Given the description of an element on the screen output the (x, y) to click on. 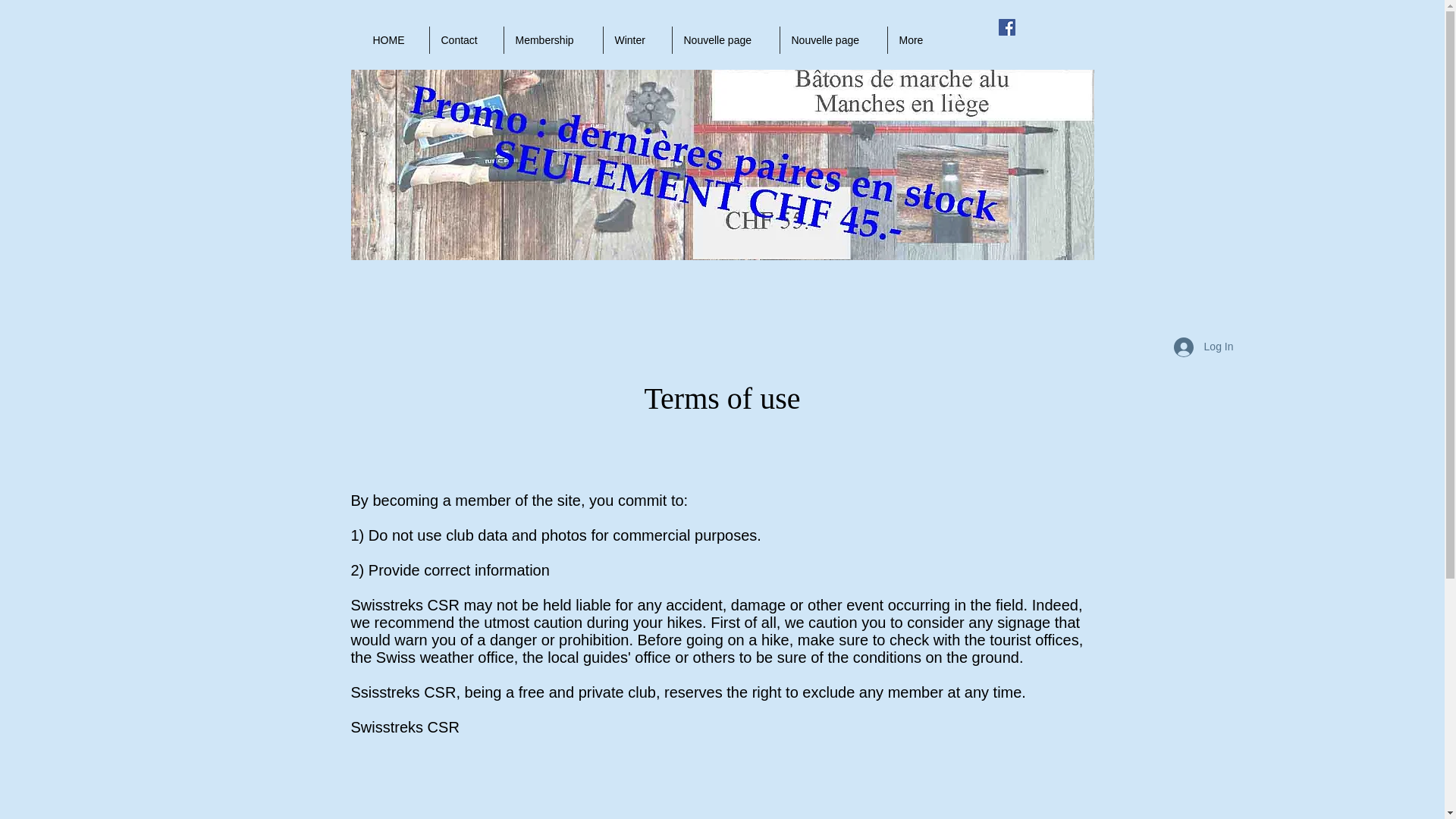
Nouvelle page (724, 40)
HOME (394, 40)
Nouvelle page (832, 40)
Winter (637, 40)
Membership (552, 40)
Contact (465, 40)
